Given the description of an element on the screen output the (x, y) to click on. 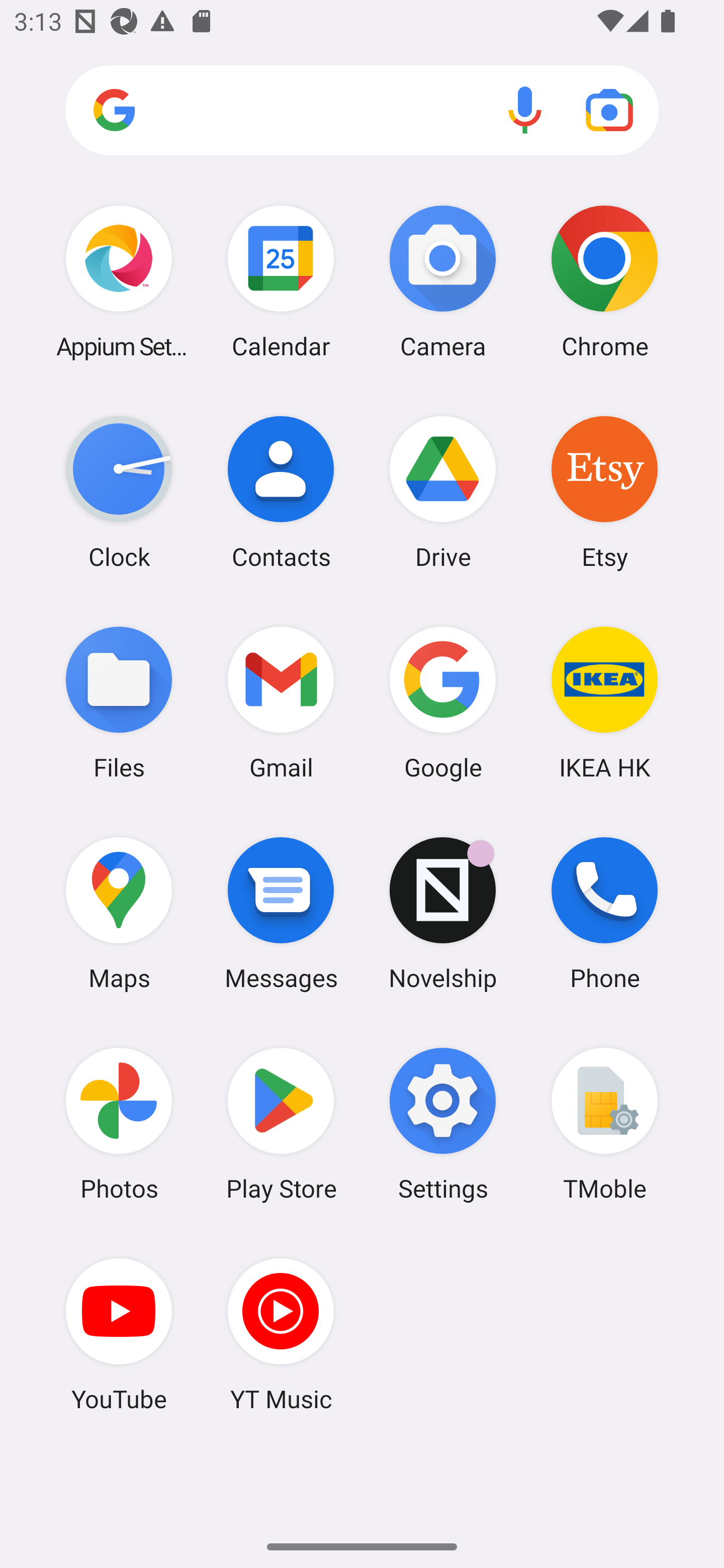
Search apps, web and more (361, 110)
Voice search (524, 109)
Google Lens (608, 109)
Appium Settings (118, 281)
Calendar (280, 281)
Camera (443, 281)
Chrome (604, 281)
Clock (118, 492)
Contacts (280, 492)
Drive (443, 492)
Etsy (604, 492)
Files (118, 702)
Gmail (280, 702)
Google (443, 702)
IKEA HK (604, 702)
Maps (118, 913)
Messages (280, 913)
Novelship Novelship has 5 notifications (443, 913)
Phone (604, 913)
Photos (118, 1124)
Play Store (280, 1124)
Settings (443, 1124)
TMoble (604, 1124)
YouTube (118, 1334)
YT Music (280, 1334)
